Given the description of an element on the screen output the (x, y) to click on. 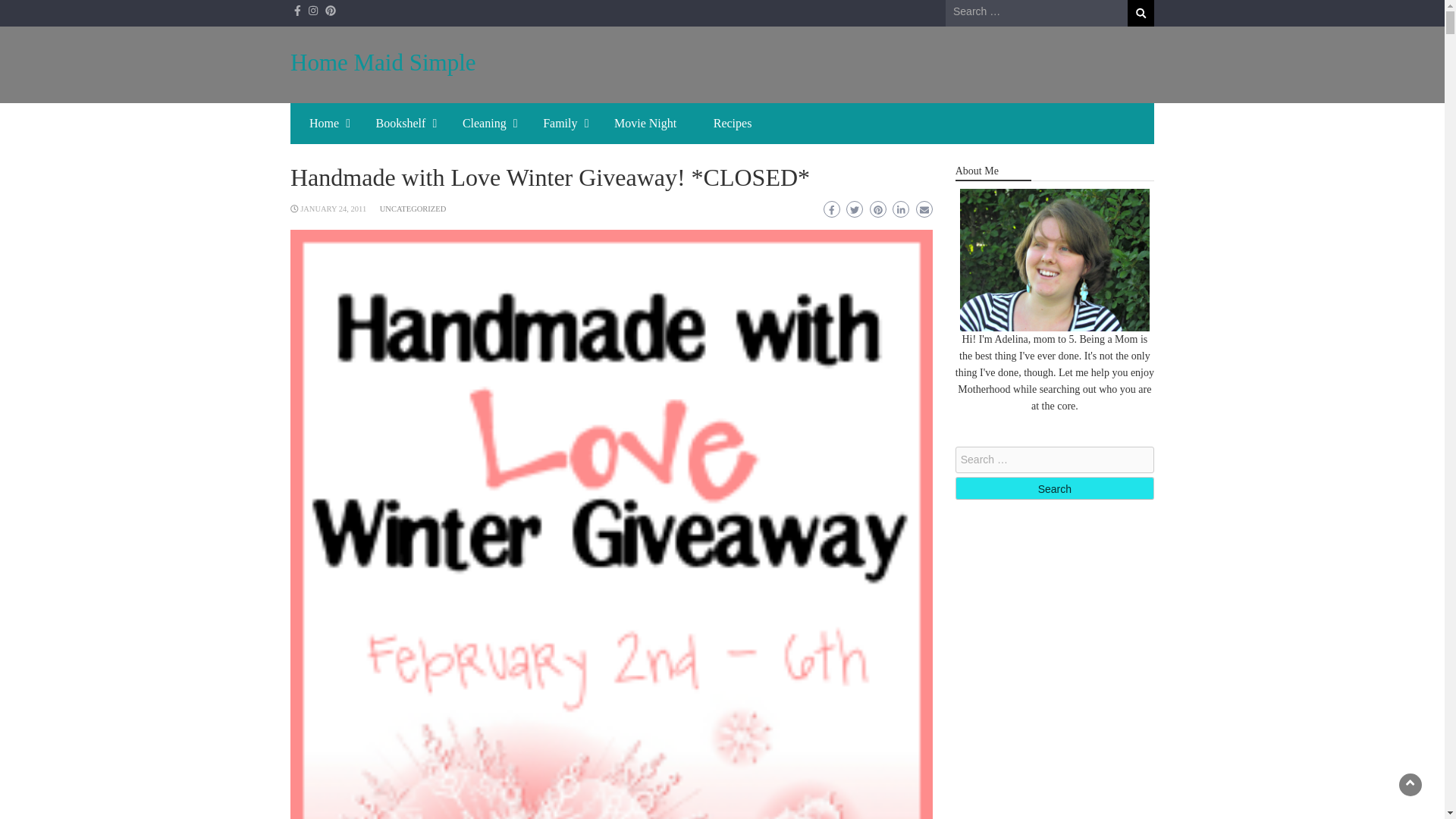
Home Maid Simple (382, 62)
Recipes (732, 123)
Search (1054, 487)
Search for: (1035, 11)
JANUARY 24, 2011 (332, 208)
Search (1140, 13)
Movie Night (644, 123)
Search (1054, 487)
Family (559, 123)
Search for: (1054, 459)
UNCATEGORIZED (413, 208)
Search (1140, 13)
Home (323, 123)
Search (1140, 13)
Bookshelf (401, 123)
